Given the description of an element on the screen output the (x, y) to click on. 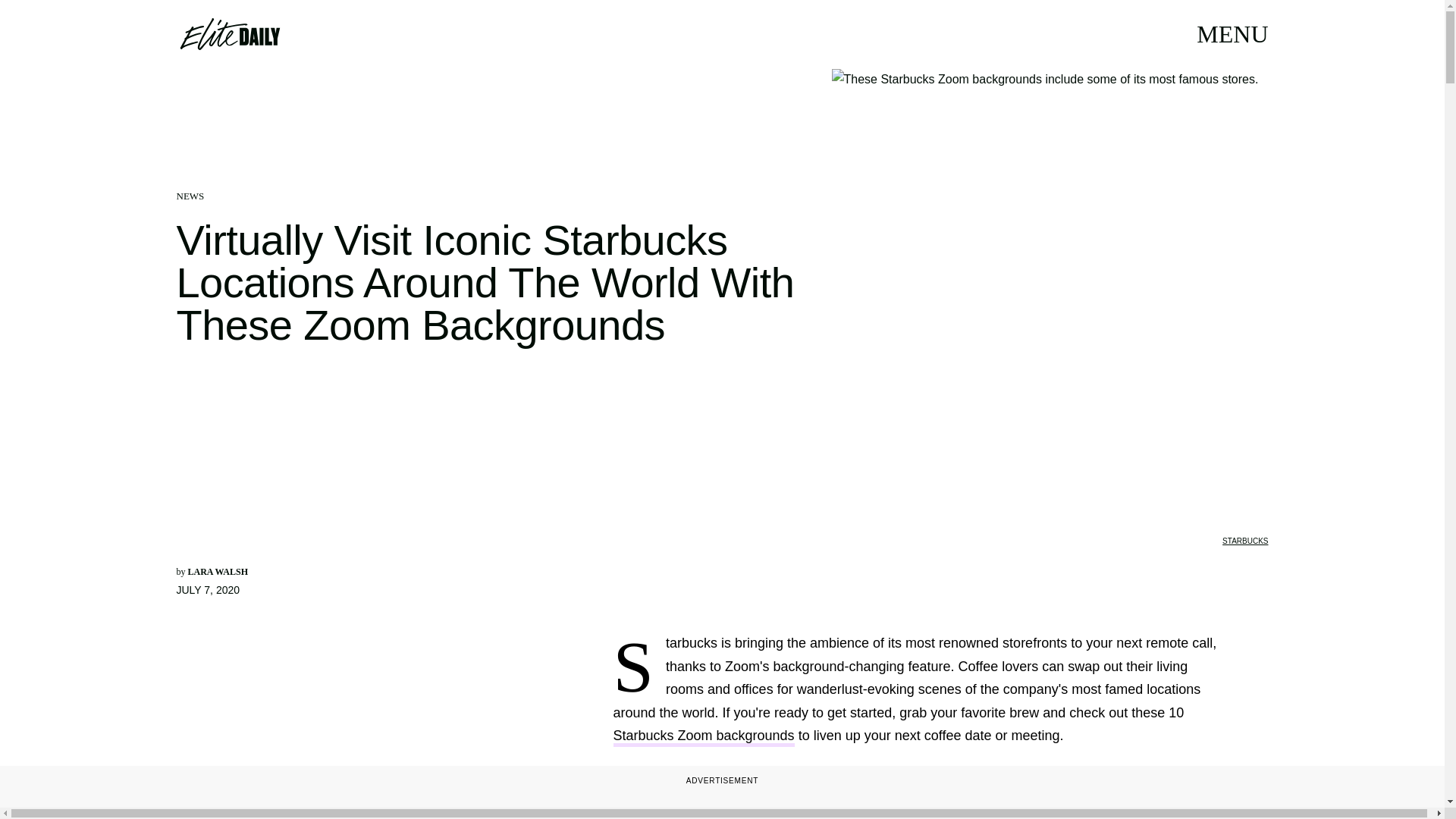
STARBUCKS (1245, 541)
Starbucks Zoom backgrounds (702, 737)
LARA WALSH (217, 571)
Elite Daily (229, 33)
